Given the description of an element on the screen output the (x, y) to click on. 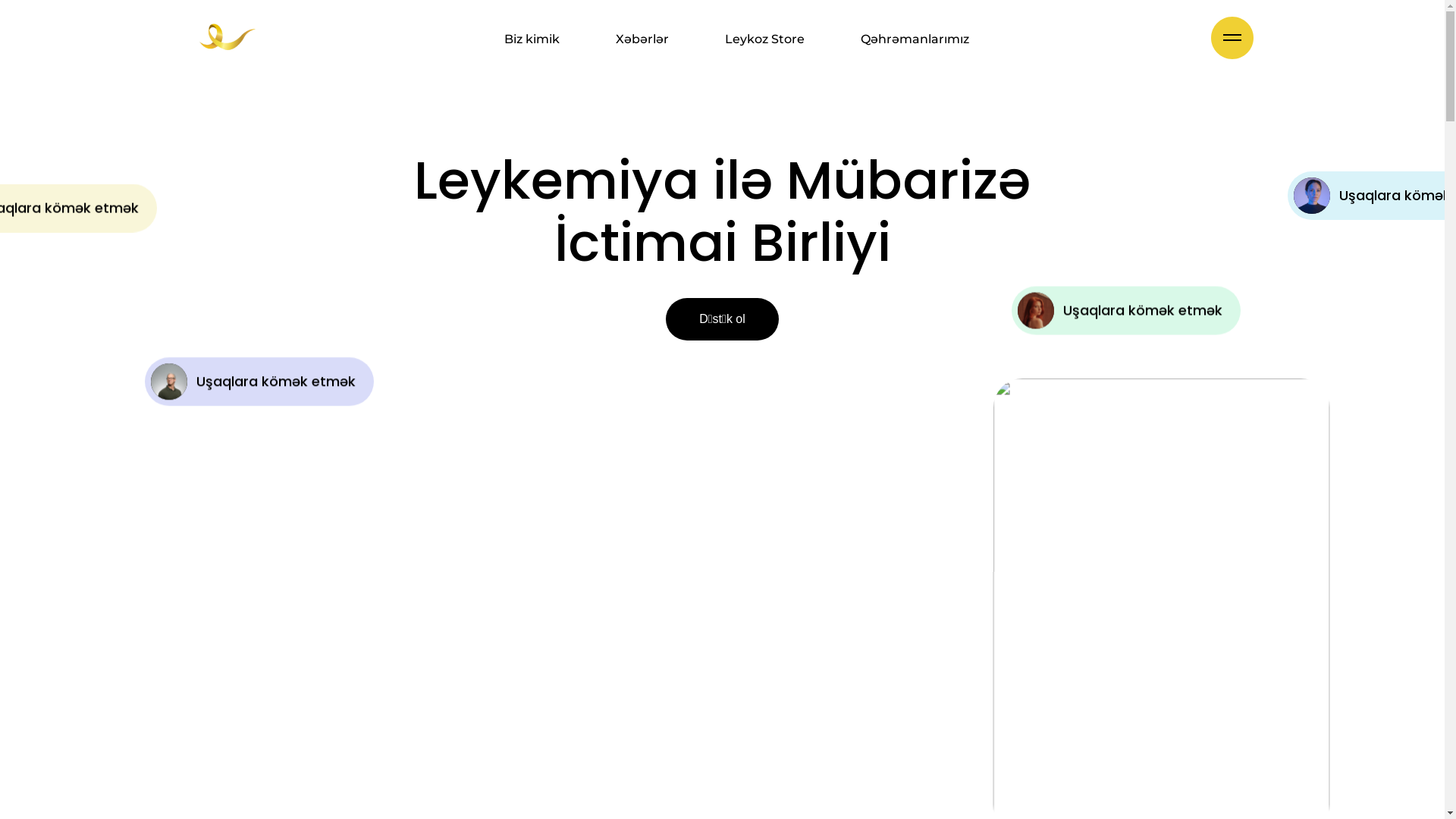
Biz kimik Element type: text (531, 38)
Leykoz Store Element type: text (764, 38)
